Given the description of an element on the screen output the (x, y) to click on. 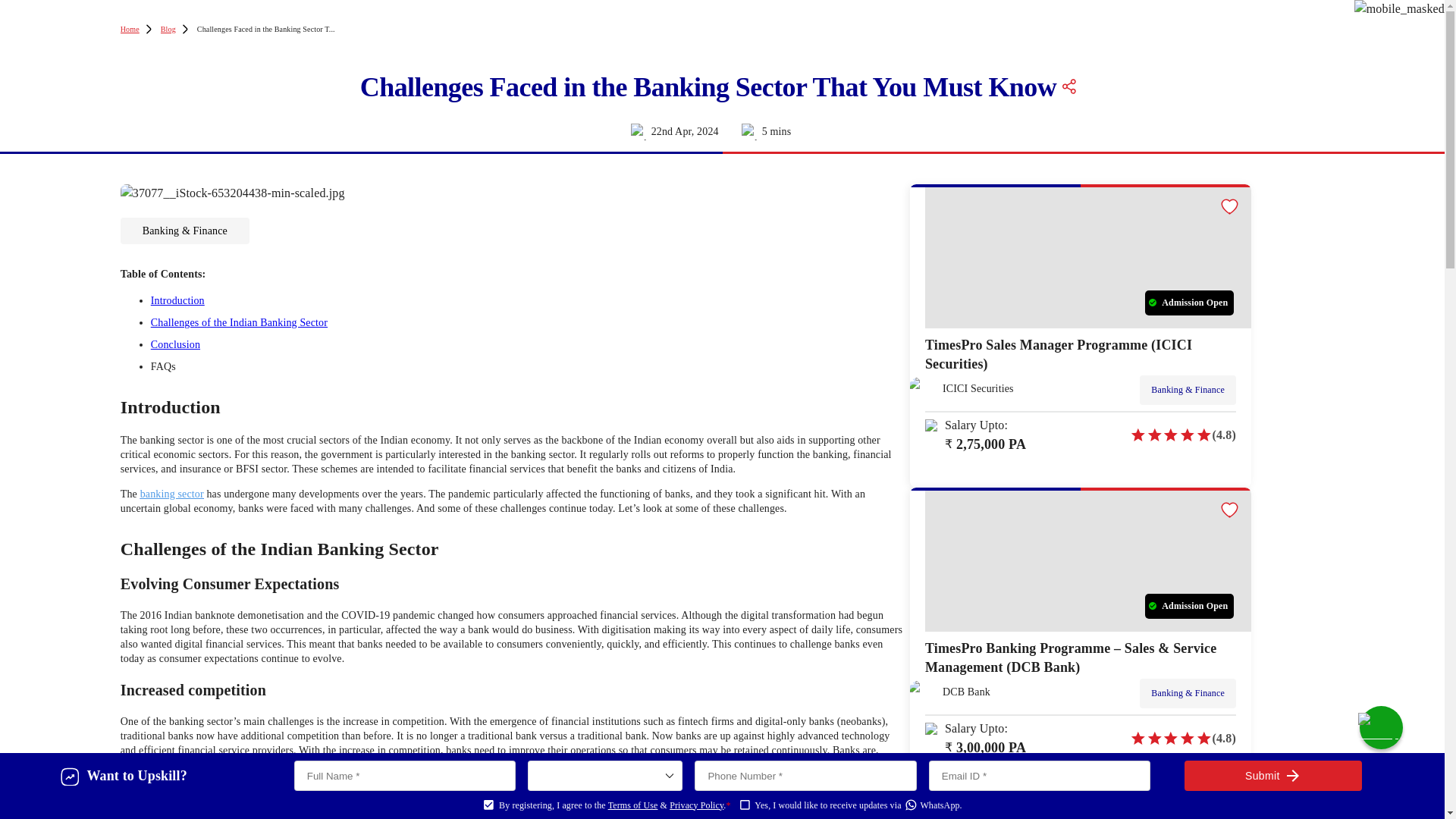
Blog (168, 29)
Terms of Use (633, 805)
Challenges of the Indian Banking Sector (239, 322)
banking sector (171, 493)
Submit (1273, 775)
Privacy Policy (696, 805)
Conclusion (175, 344)
Home (129, 29)
Introduction (178, 300)
